Given the description of an element on the screen output the (x, y) to click on. 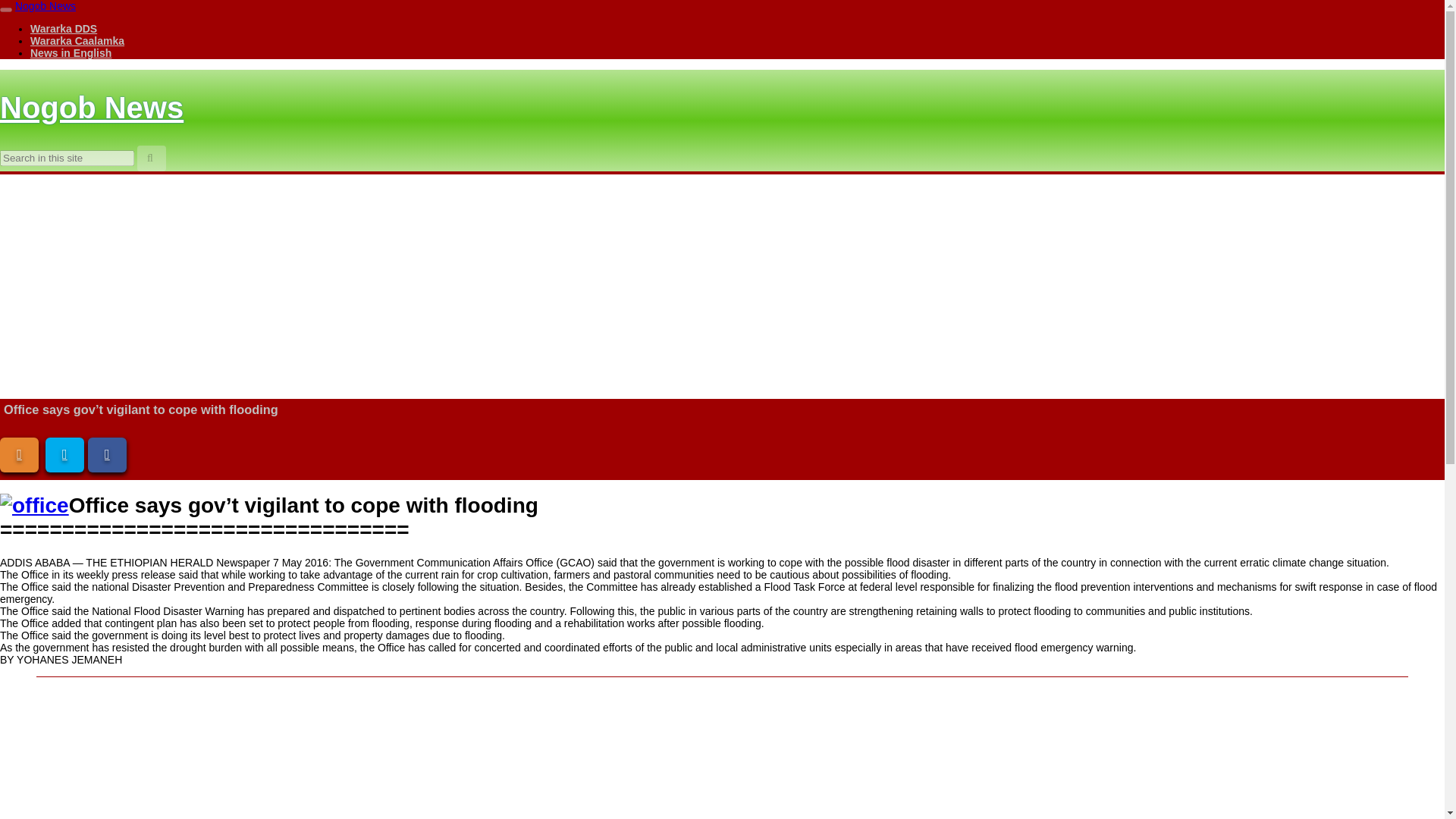
News in English (71, 52)
Wararka Caalamka (76, 40)
Wararka Caalamka (76, 40)
Nogob News (44, 6)
Wararka DDS (63, 28)
Wararka DDS (63, 28)
Advertisement (721, 748)
News in English (71, 52)
